Given the description of an element on the screen output the (x, y) to click on. 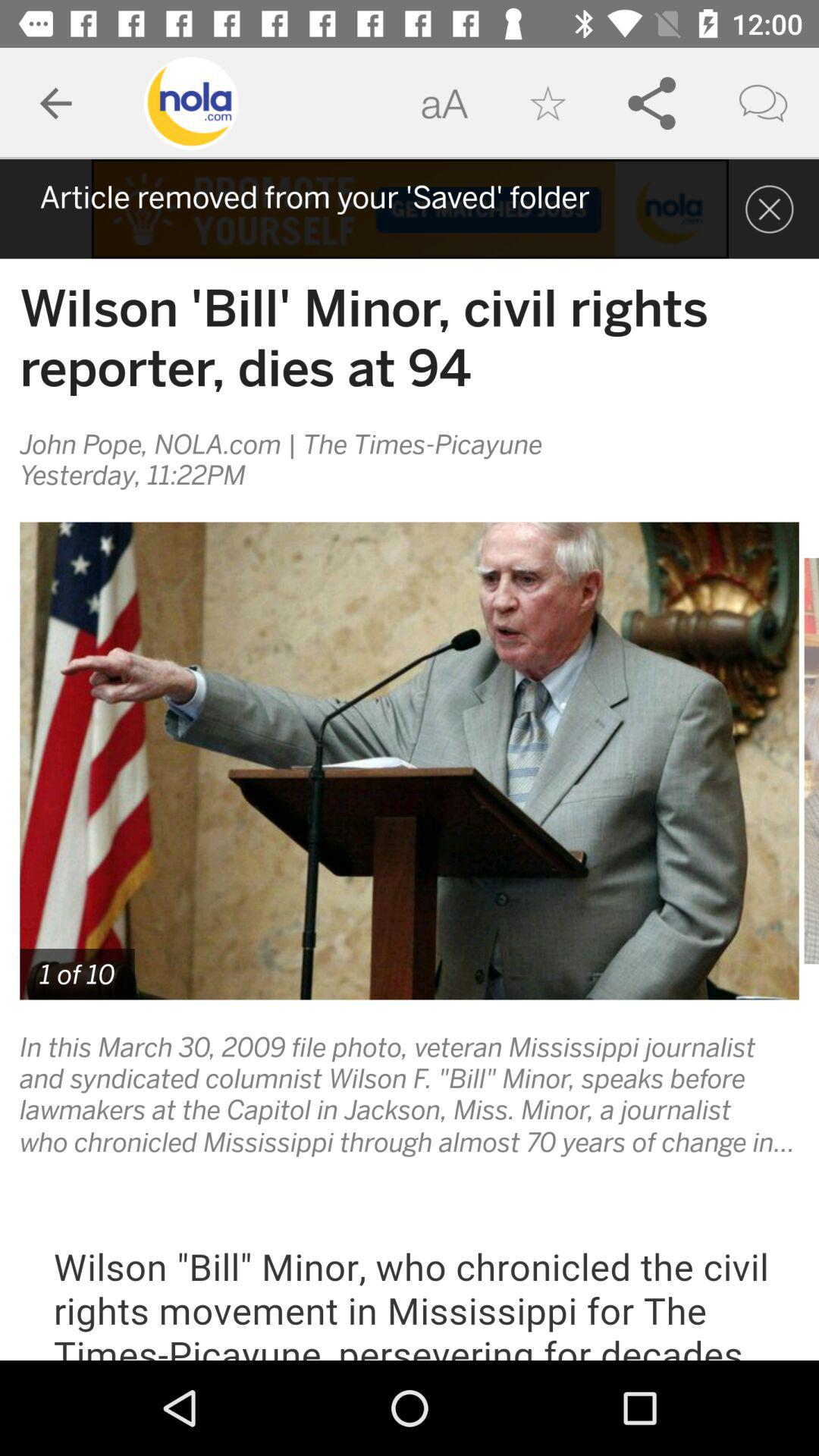
toggle added article (409, 208)
